Given the description of an element on the screen output the (x, y) to click on. 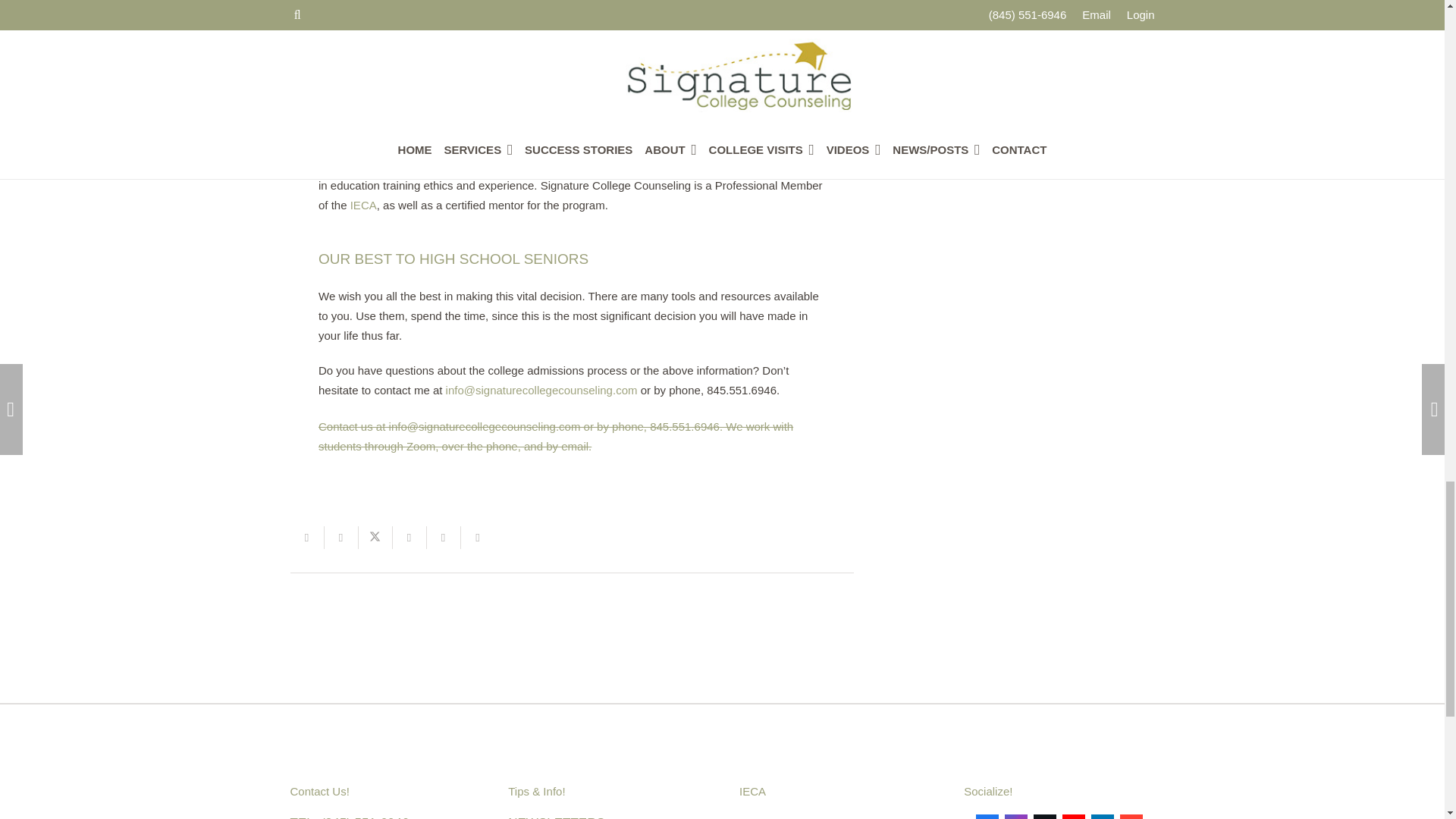
Share this (341, 537)
Google (1130, 816)
LinkedIn (1101, 816)
Facebook (986, 816)
Tweet this (374, 537)
Instagram (1015, 816)
Twitter (1045, 816)
Pin this (443, 537)
Email this (306, 537)
Share this (409, 537)
YouTube (1073, 816)
Share this (478, 537)
